Given the description of an element on the screen output the (x, y) to click on. 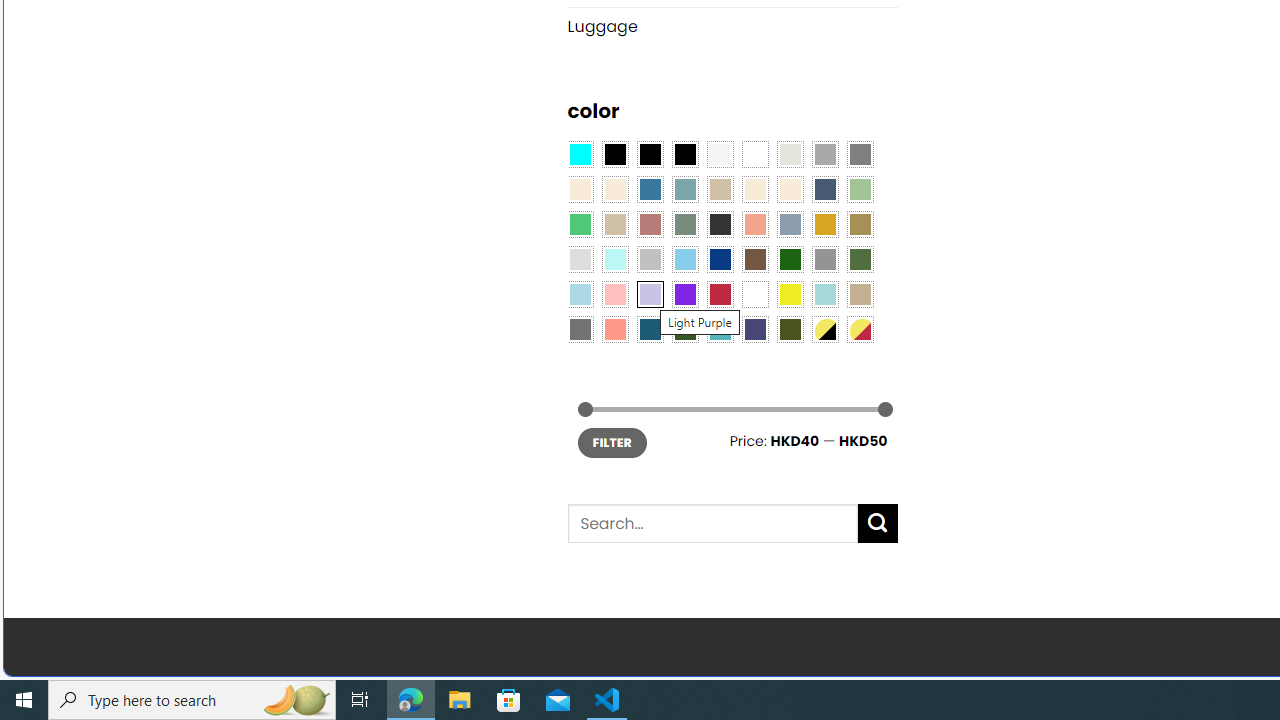
Silver (650, 259)
Clear (755, 154)
Light Purple (650, 295)
All Gray (859, 154)
Luggage (732, 26)
Army Green (789, 329)
Blue Sage (684, 190)
Caramel (755, 190)
Emerald Green (579, 224)
Pearly White (719, 154)
Forest (684, 329)
Green (859, 259)
Coral (755, 224)
Yellow (789, 295)
Gray (824, 259)
